Given the description of an element on the screen output the (x, y) to click on. 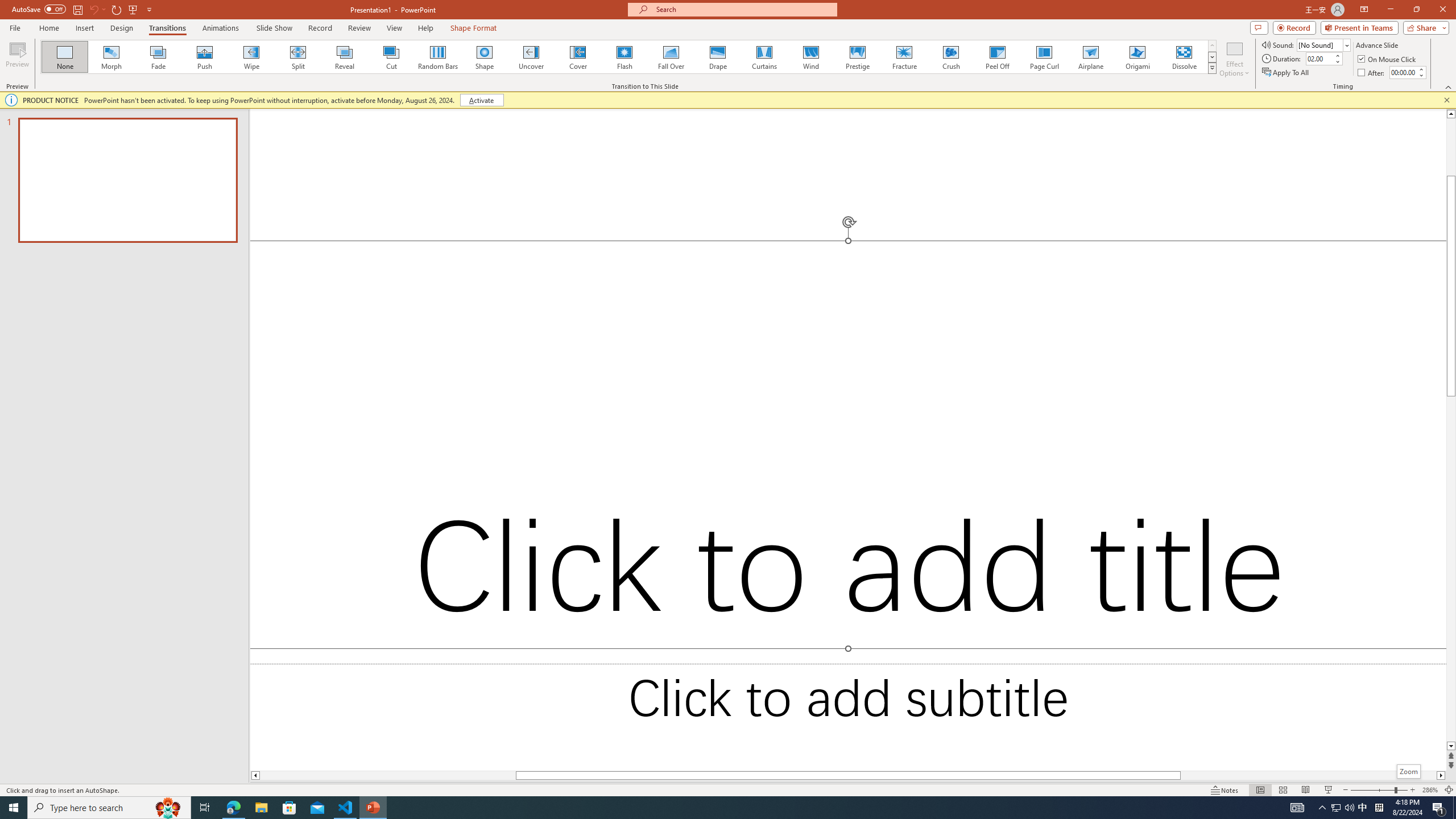
After (1403, 72)
Random Bars (437, 56)
Wipe (251, 56)
